Given the description of an element on the screen output the (x, y) to click on. 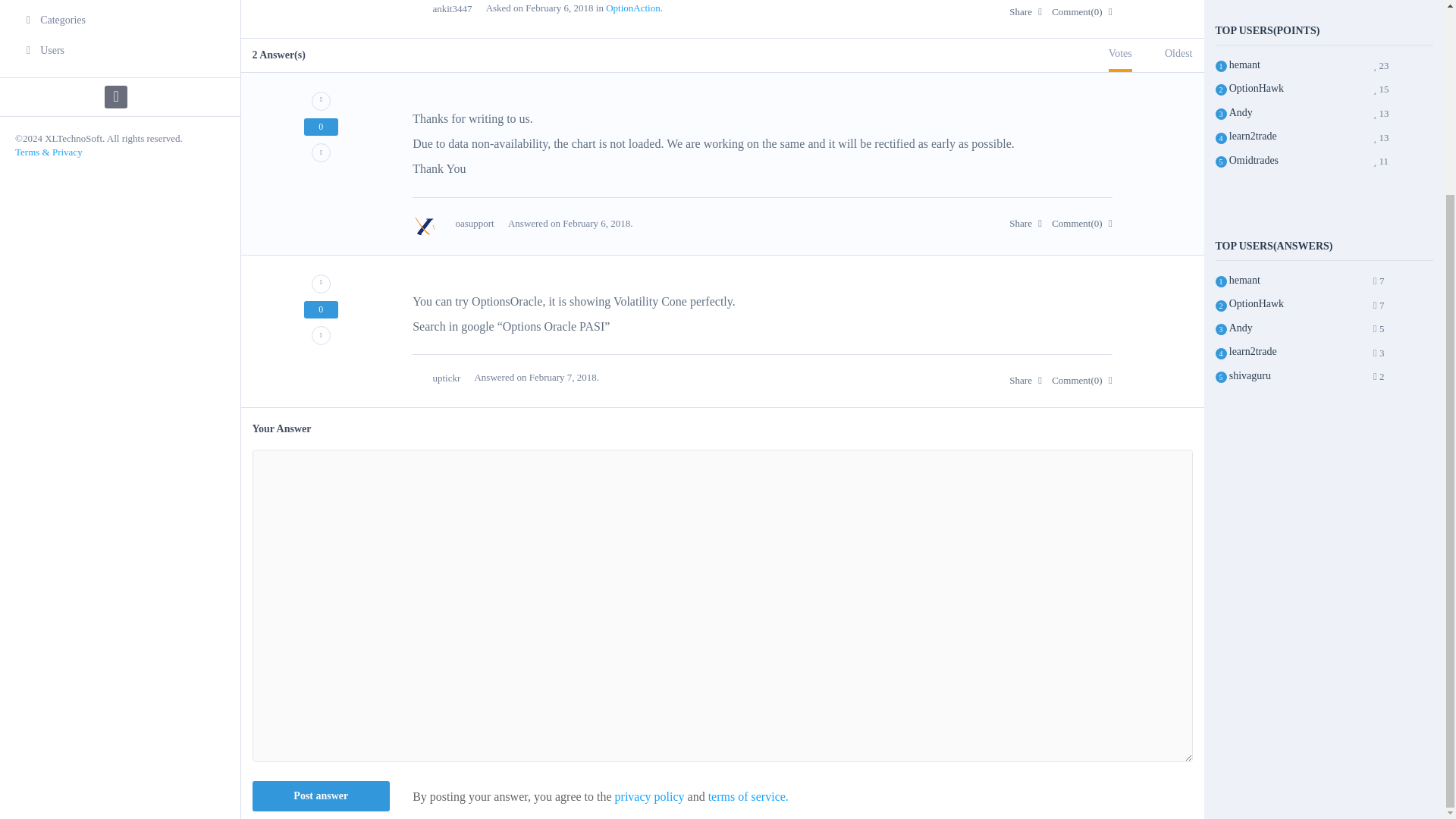
Badges (119, 2)
Users (119, 51)
Categories (119, 20)
